Given the description of an element on the screen output the (x, y) to click on. 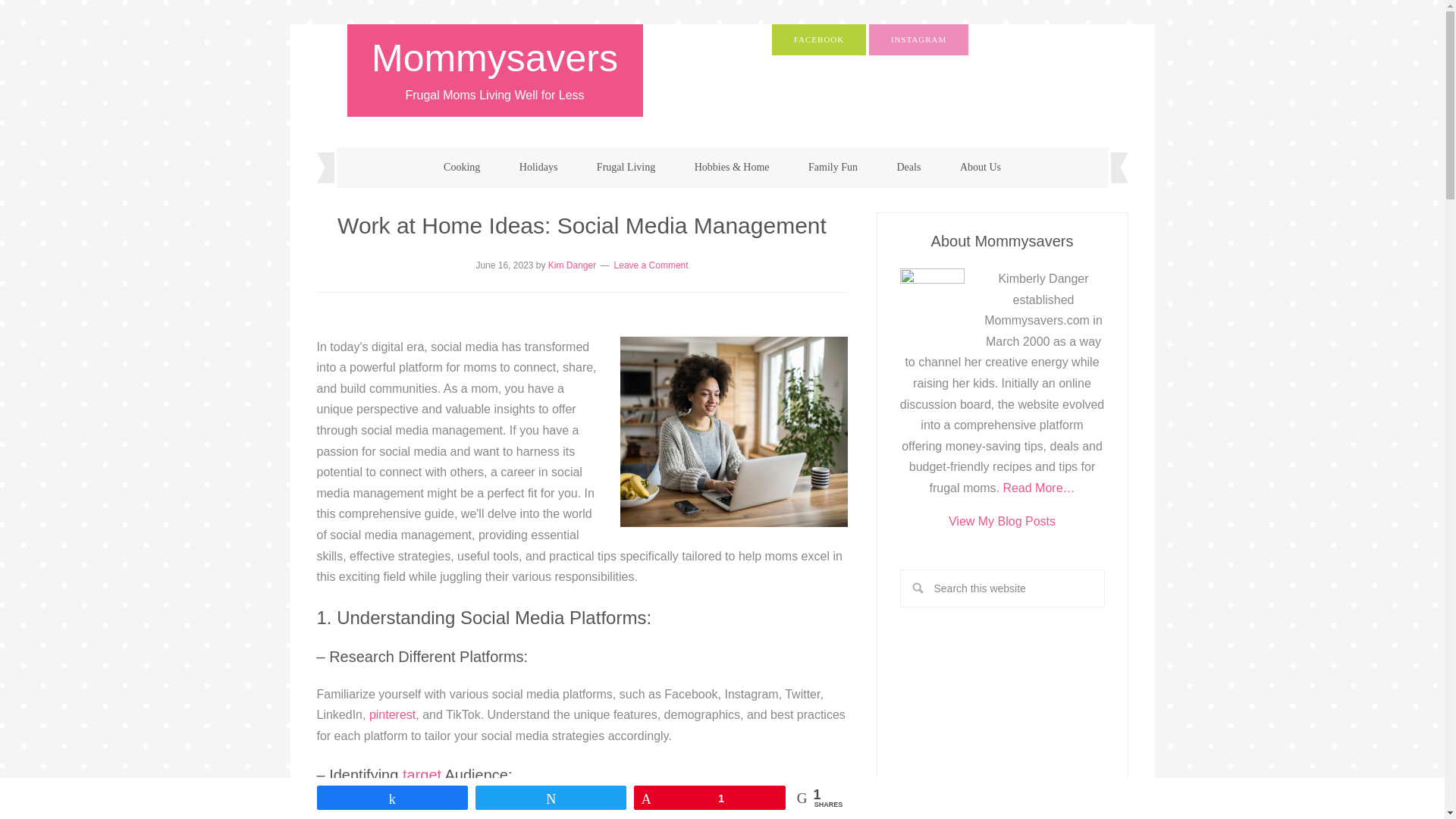
Holidays (538, 167)
Leave a Comment (651, 265)
Family Fun (833, 167)
Cooking (461, 167)
Posts tagged with pinterest (391, 714)
Deals (908, 167)
Frugal Living (625, 167)
INSTAGRAM (919, 39)
FACEBOOK (818, 39)
